Given the description of an element on the screen output the (x, y) to click on. 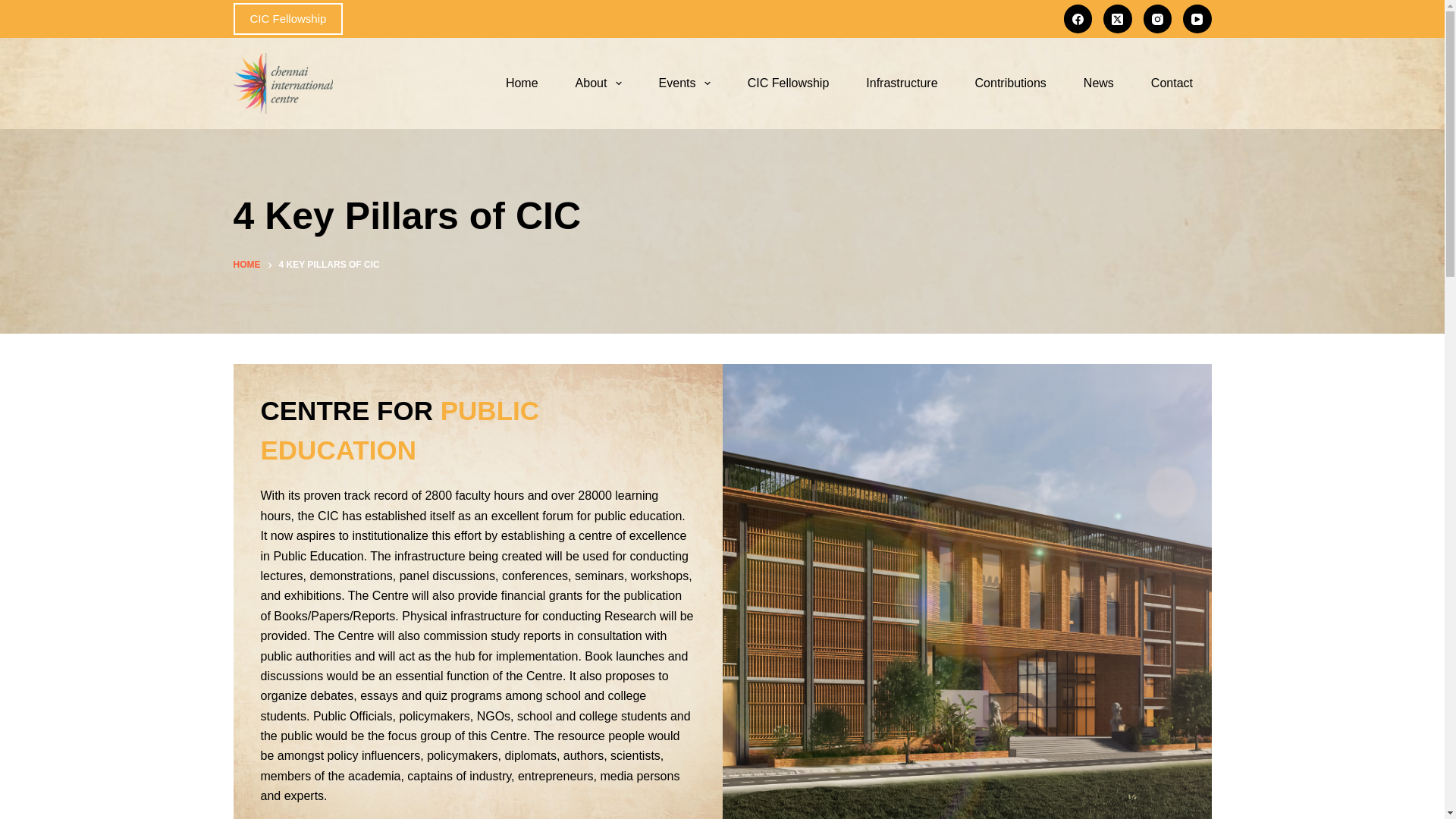
Skip to content (15, 7)
CIC Fellowship (788, 83)
News (1098, 83)
Infrastructure (901, 83)
Home (521, 83)
Contact (1171, 83)
CIC Fellowship (287, 19)
HOME (246, 264)
About (598, 83)
Events (684, 83)
Contributions (1010, 83)
